Given the description of an element on the screen output the (x, y) to click on. 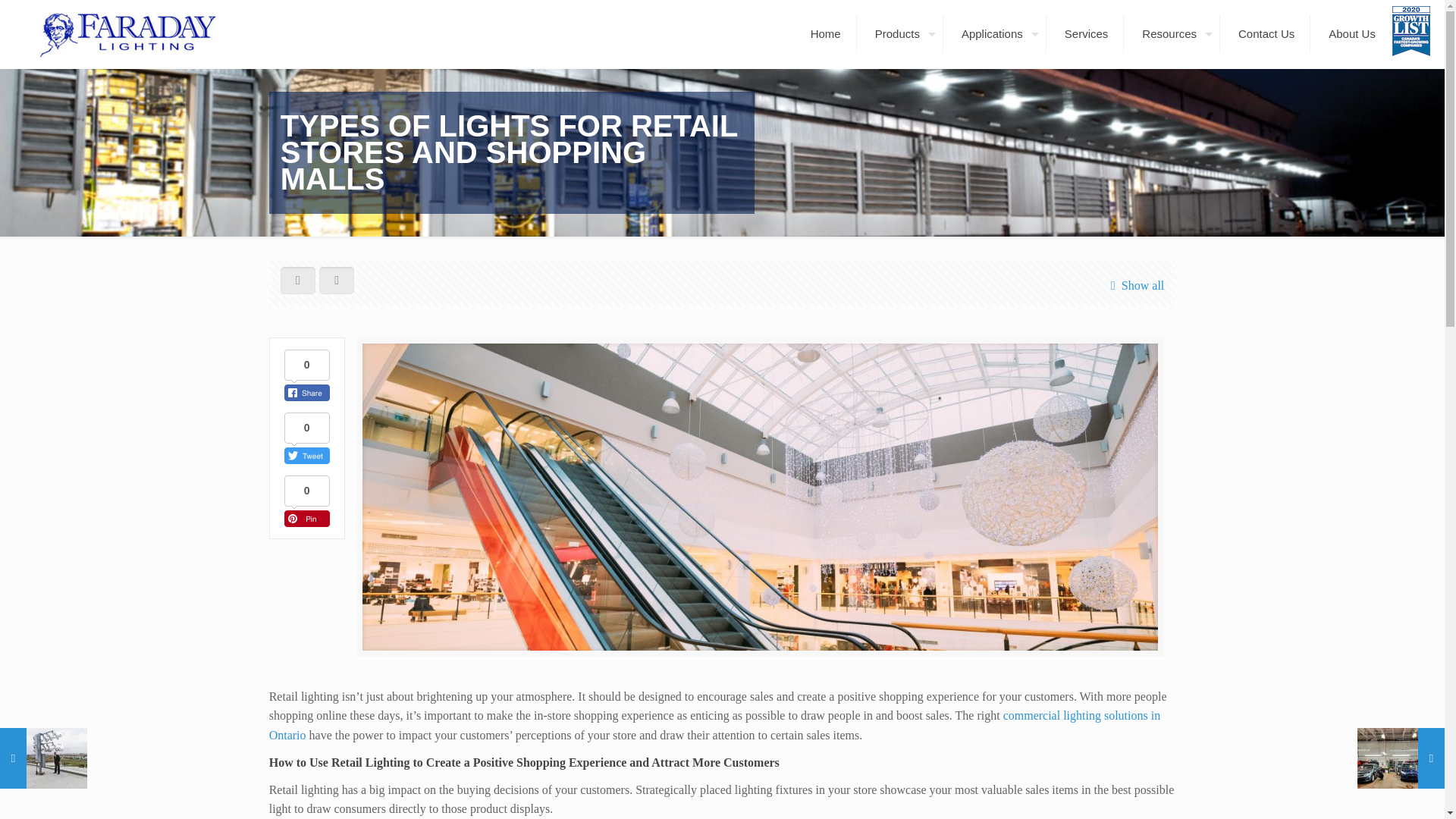
Services (1086, 34)
Applications (996, 34)
Home (825, 34)
Resources (1173, 34)
Products (901, 34)
Faraday Lighting (126, 33)
